Given the description of an element on the screen output the (x, y) to click on. 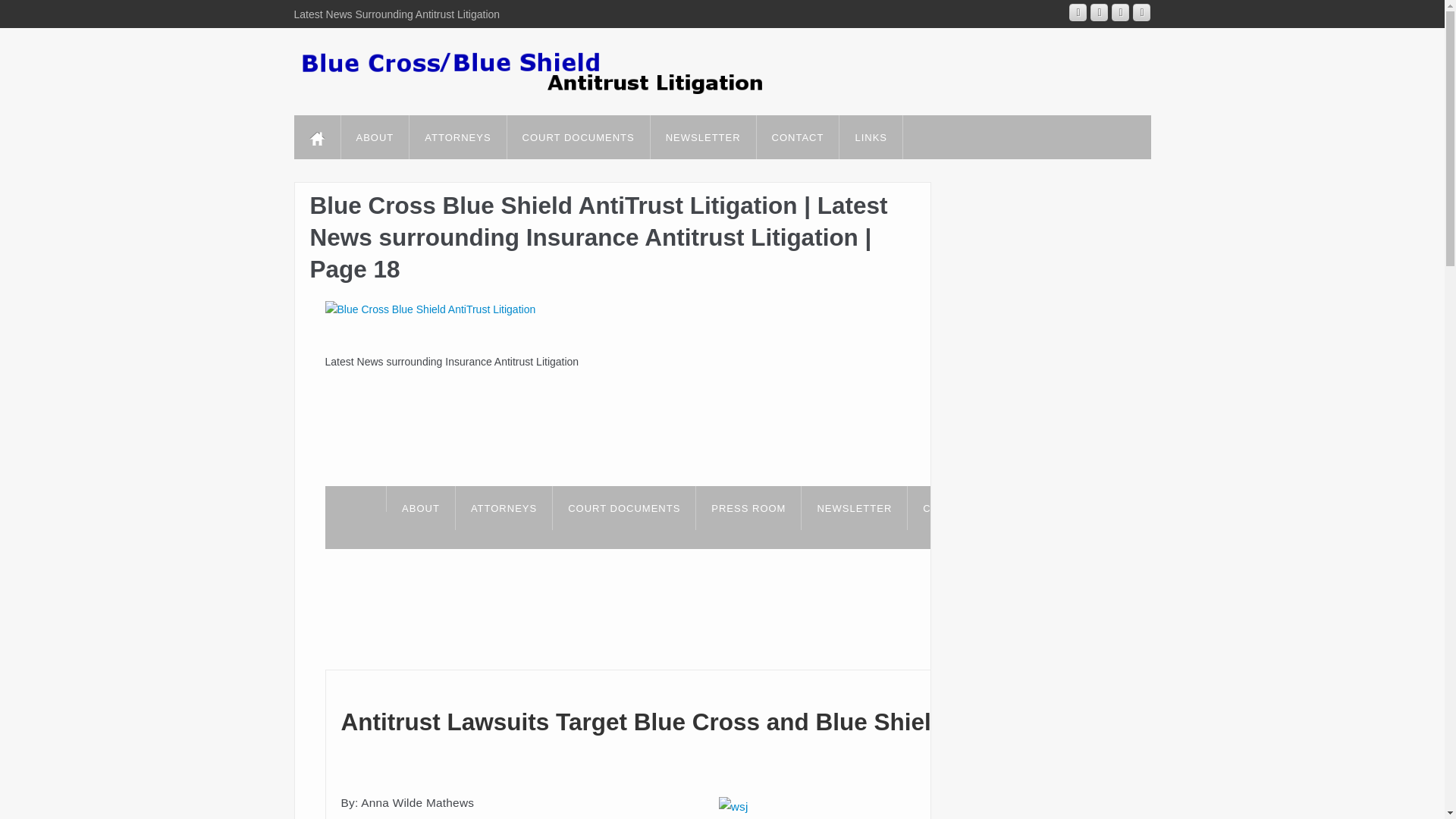
Blue Cross Blue Shield AntiTrust Litigation (429, 309)
PRESS ROOM (747, 507)
CONTACT (798, 136)
ATTORNEYS (503, 507)
ABOUT (420, 507)
Sign-up (854, 507)
COURT DOCUMENTS (577, 136)
ABOUT (374, 136)
COURT DOCUMENTS (624, 507)
ATTORNEYS (457, 136)
